Given the description of an element on the screen output the (x, y) to click on. 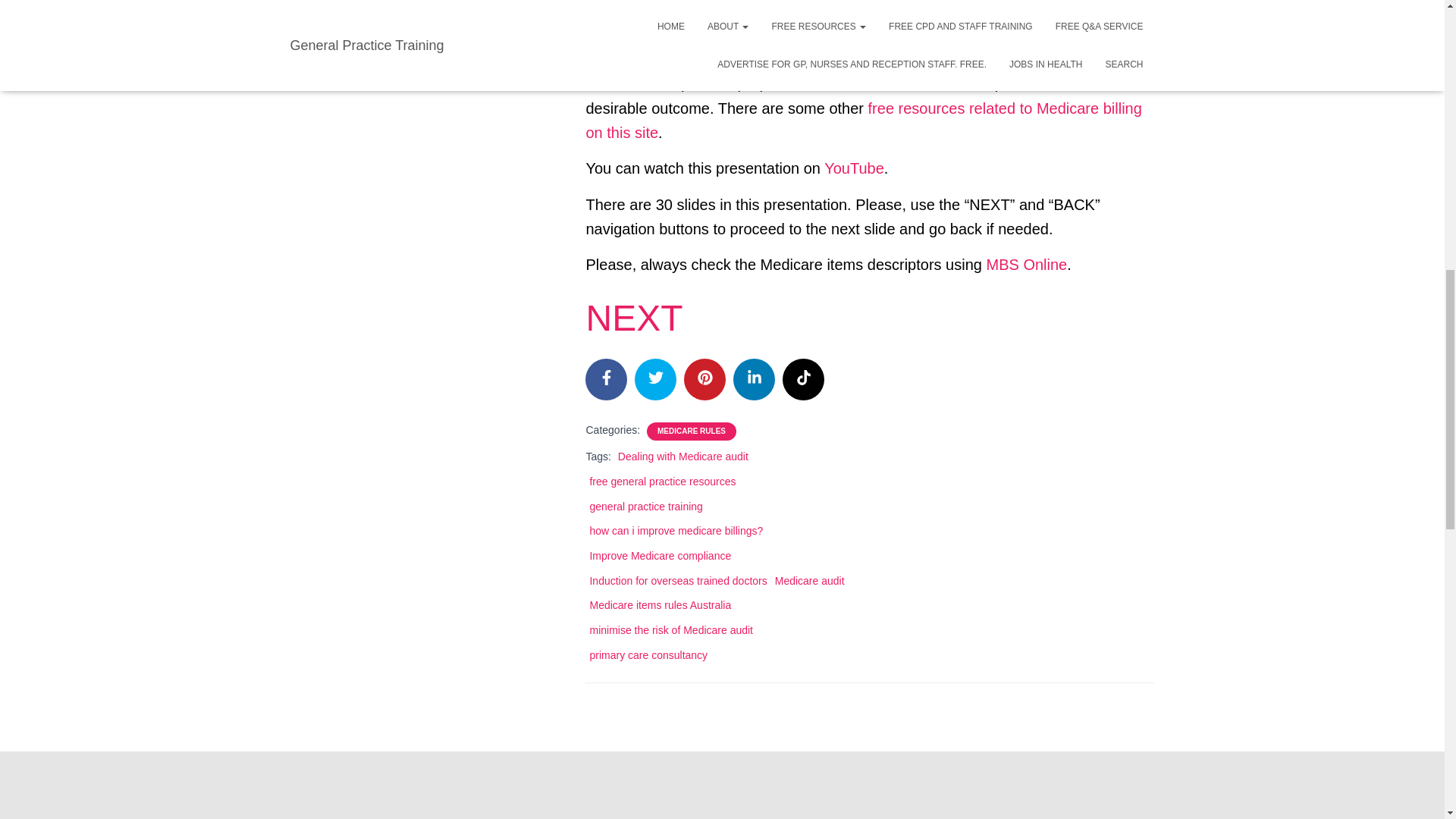
free general practice resources (662, 481)
how can i improve medicare billings? (675, 530)
free resources related to Medicare billing on this site (863, 119)
Improve Medicare compliance (659, 555)
Medicare audit (809, 580)
MEDICARE RULES (691, 430)
MBS Online (1026, 264)
general practice training (645, 506)
YouTube (853, 167)
Induction for overseas trained doctors (678, 580)
